Given the description of an element on the screen output the (x, y) to click on. 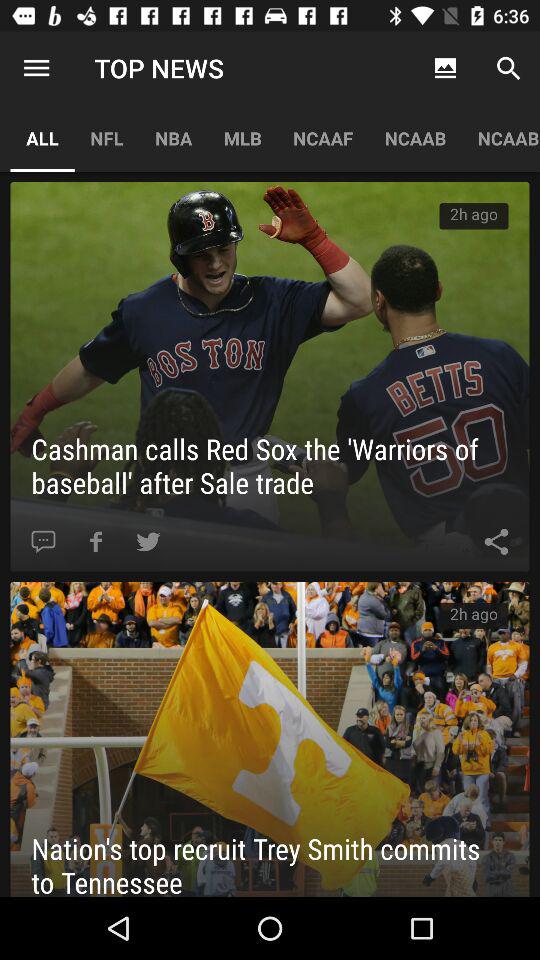
click icon next to the mlb app (173, 138)
